Given the description of an element on the screen output the (x, y) to click on. 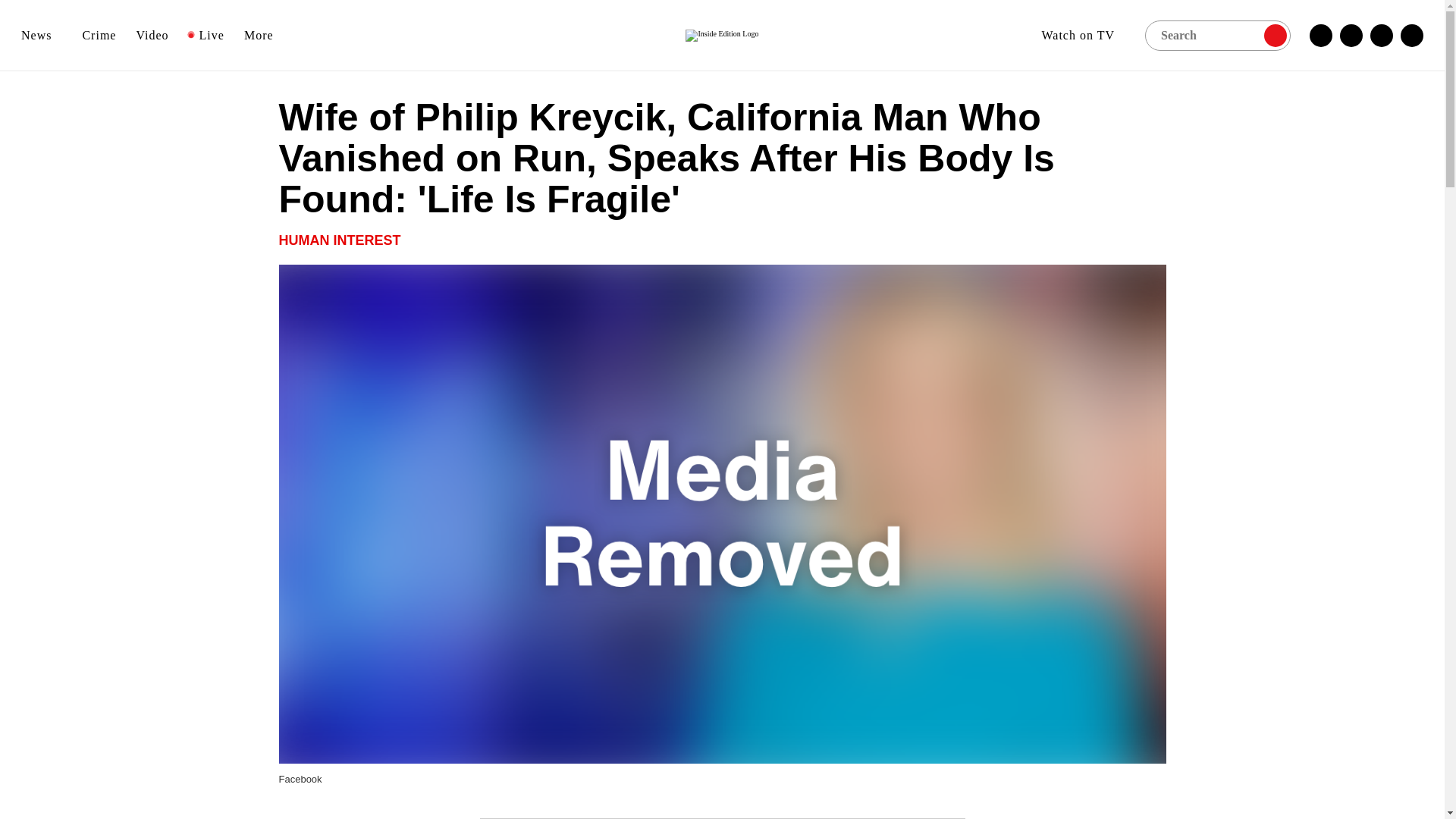
More (263, 35)
Crime (98, 35)
News (41, 35)
Enter the terms you wish to search for. (1217, 34)
Watch on TV (1083, 35)
Live (206, 35)
Video (151, 35)
